Given the description of an element on the screen output the (x, y) to click on. 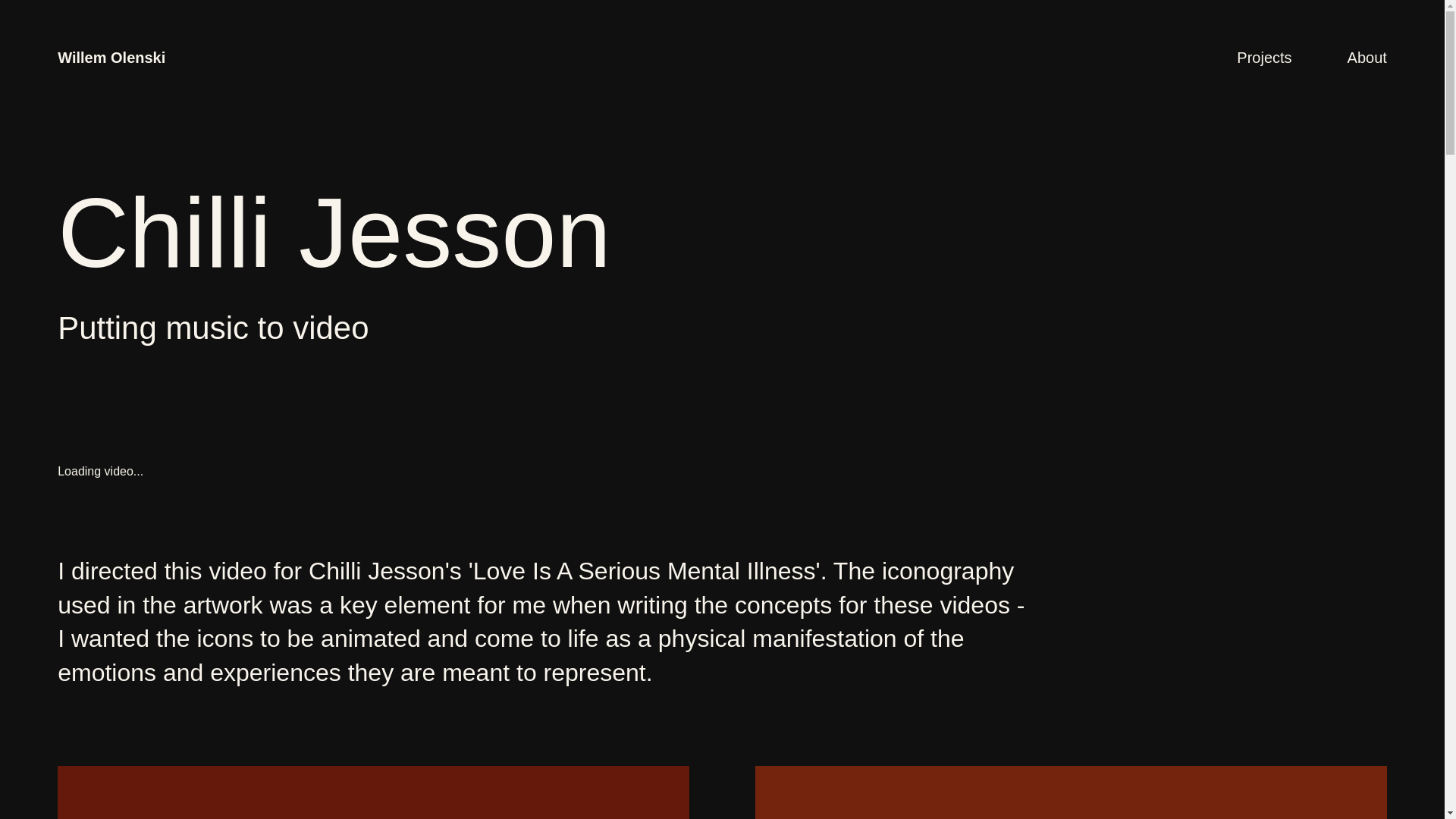
About (1367, 57)
Projects (1263, 57)
Willem Olenski (111, 57)
